Given the description of an element on the screen output the (x, y) to click on. 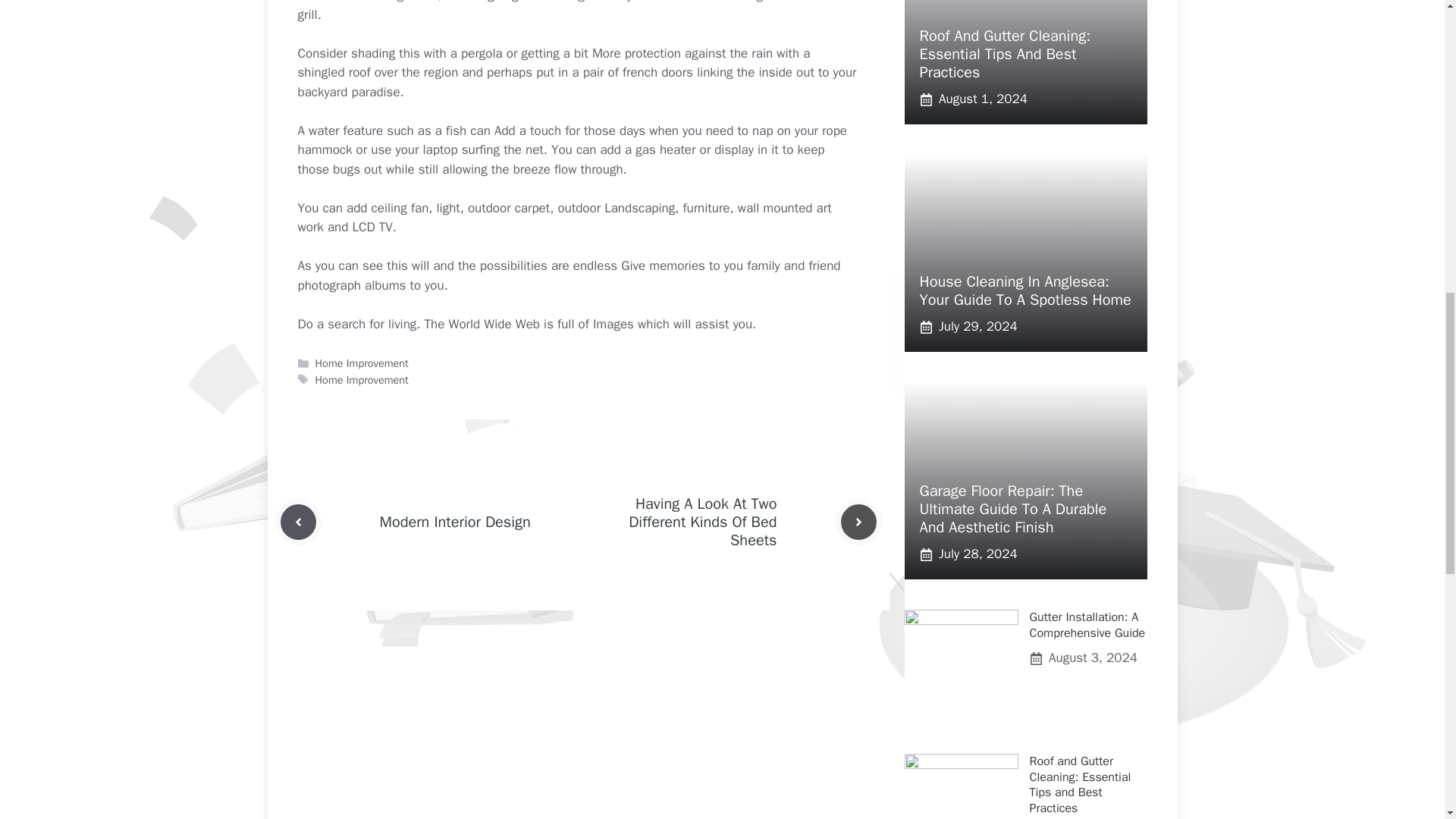
Having A Look At Two Different Kinds Of Bed Sheets (702, 521)
House Cleaning In Anglesea: Your Guide To A Spotless Home (1024, 290)
Gutter Installation: A Comprehensive Guide (1087, 624)
Home Improvement (362, 363)
Modern Interior Design (453, 521)
deck (660, 1)
Roof and Gutter Cleaning: Essential Tips and Best Practices (1080, 784)
Scroll back to top (1406, 720)
Roof And Gutter Cleaning: Essential Tips And Best Practices (1004, 53)
Home Improvement (362, 379)
